Given the description of an element on the screen output the (x, y) to click on. 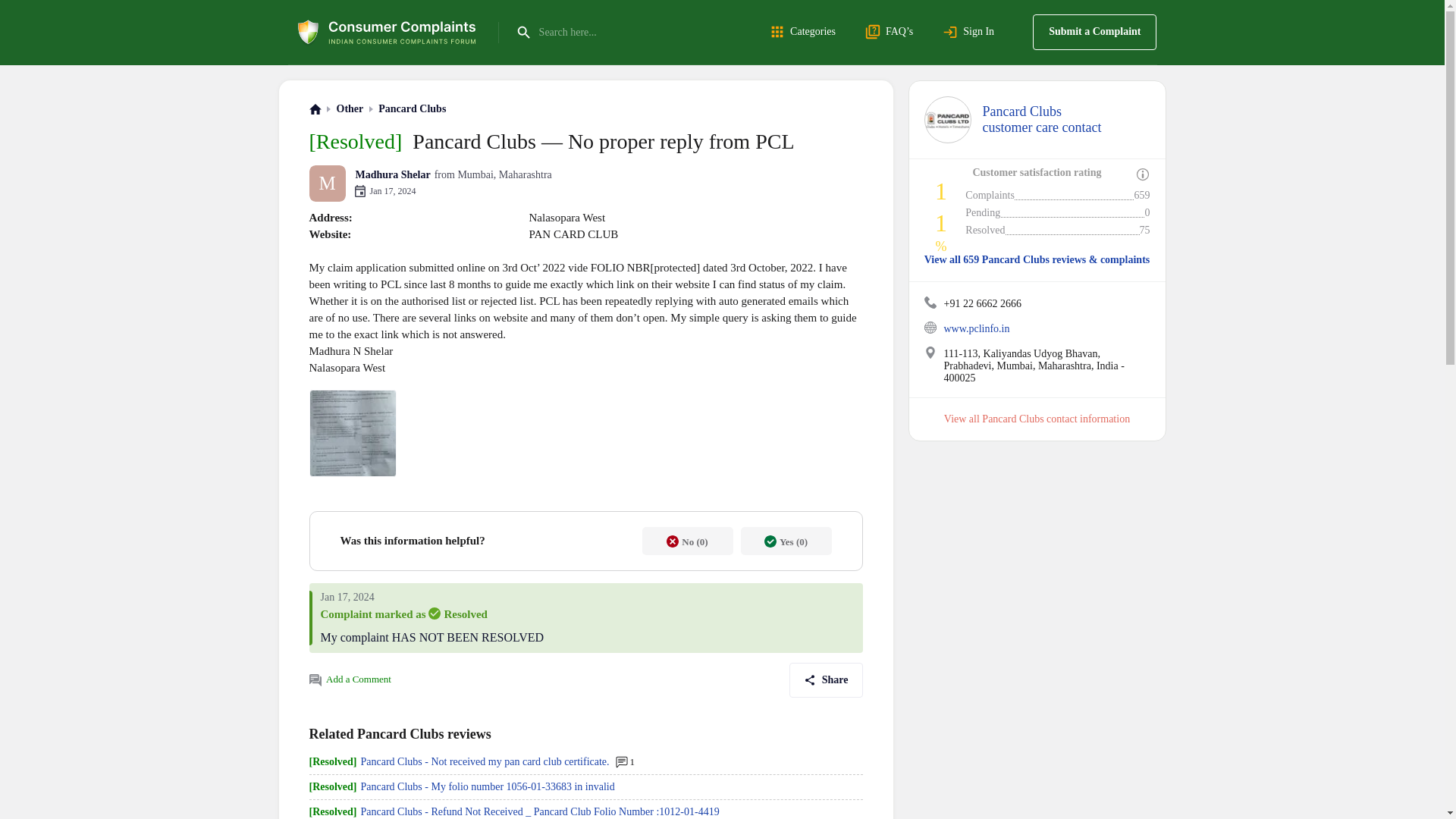
Complaint comments (314, 680)
www.pclinfo.in (976, 328)
Pancard Clubs Address (929, 352)
Other (1042, 119)
Categories (350, 109)
Pancard Clubs contact information (805, 31)
Pancard Clubs Phone (1055, 419)
Pancard Clubs Customer Care Service (929, 302)
Pancard Clubs Website (947, 119)
Submit a Complaint (929, 327)
Sign In (1094, 31)
Pancard Clubs (971, 31)
